Given the description of an element on the screen output the (x, y) to click on. 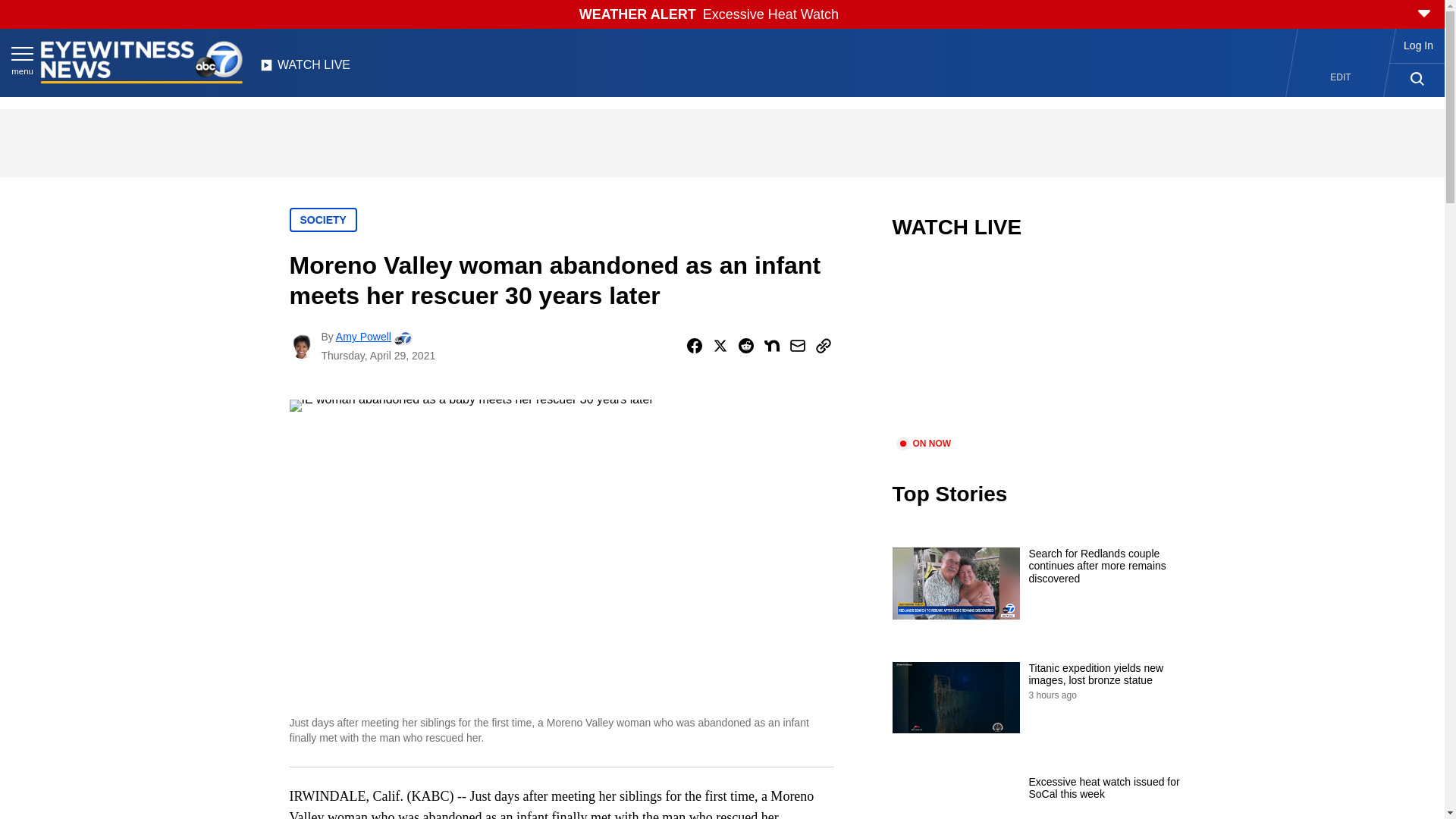
EDIT (1340, 77)
WATCH LIVE (305, 69)
video.title (1043, 347)
